Given the description of an element on the screen output the (x, y) to click on. 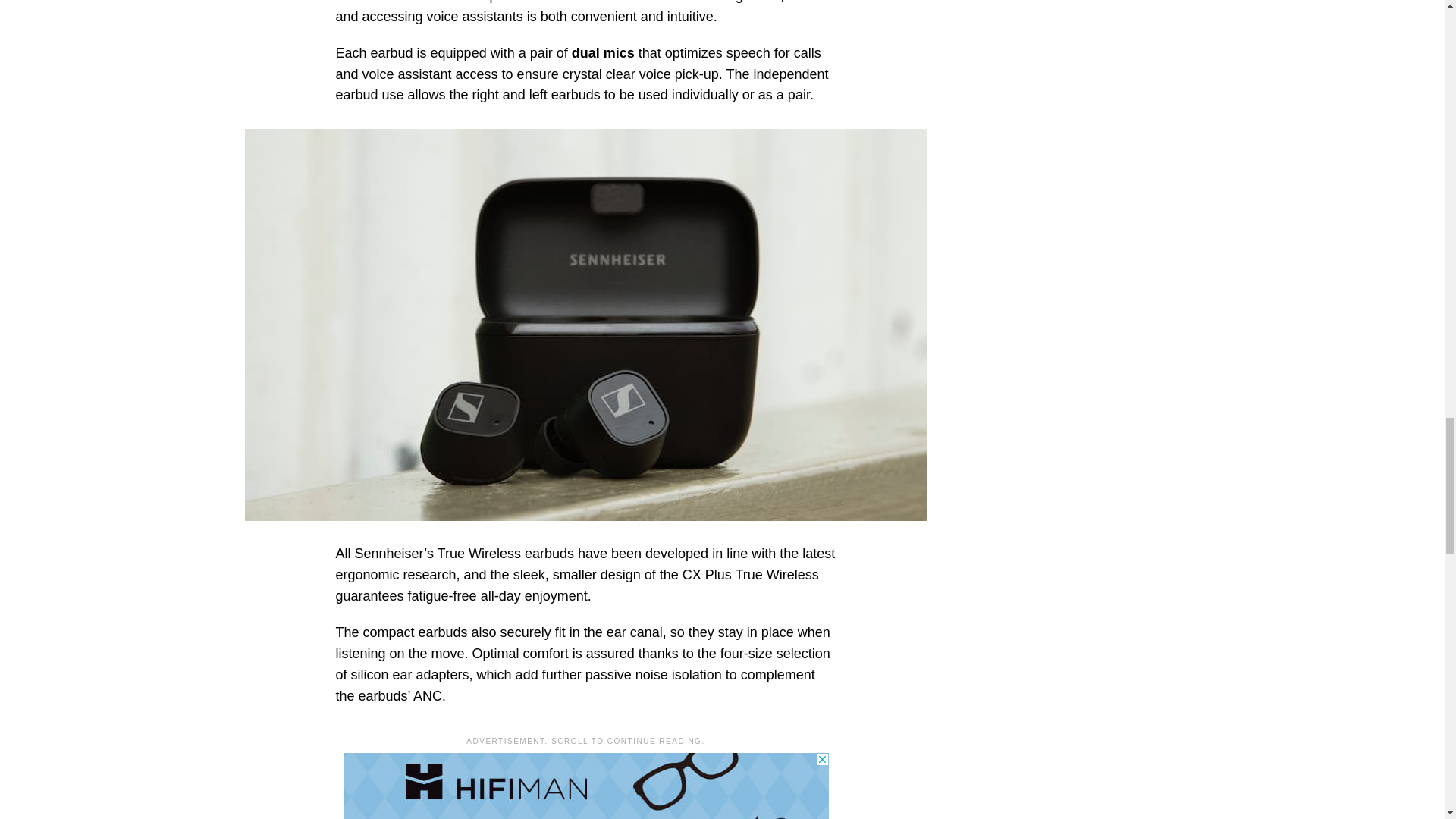
3rd party ad content (585, 785)
